Given the description of an element on the screen output the (x, y) to click on. 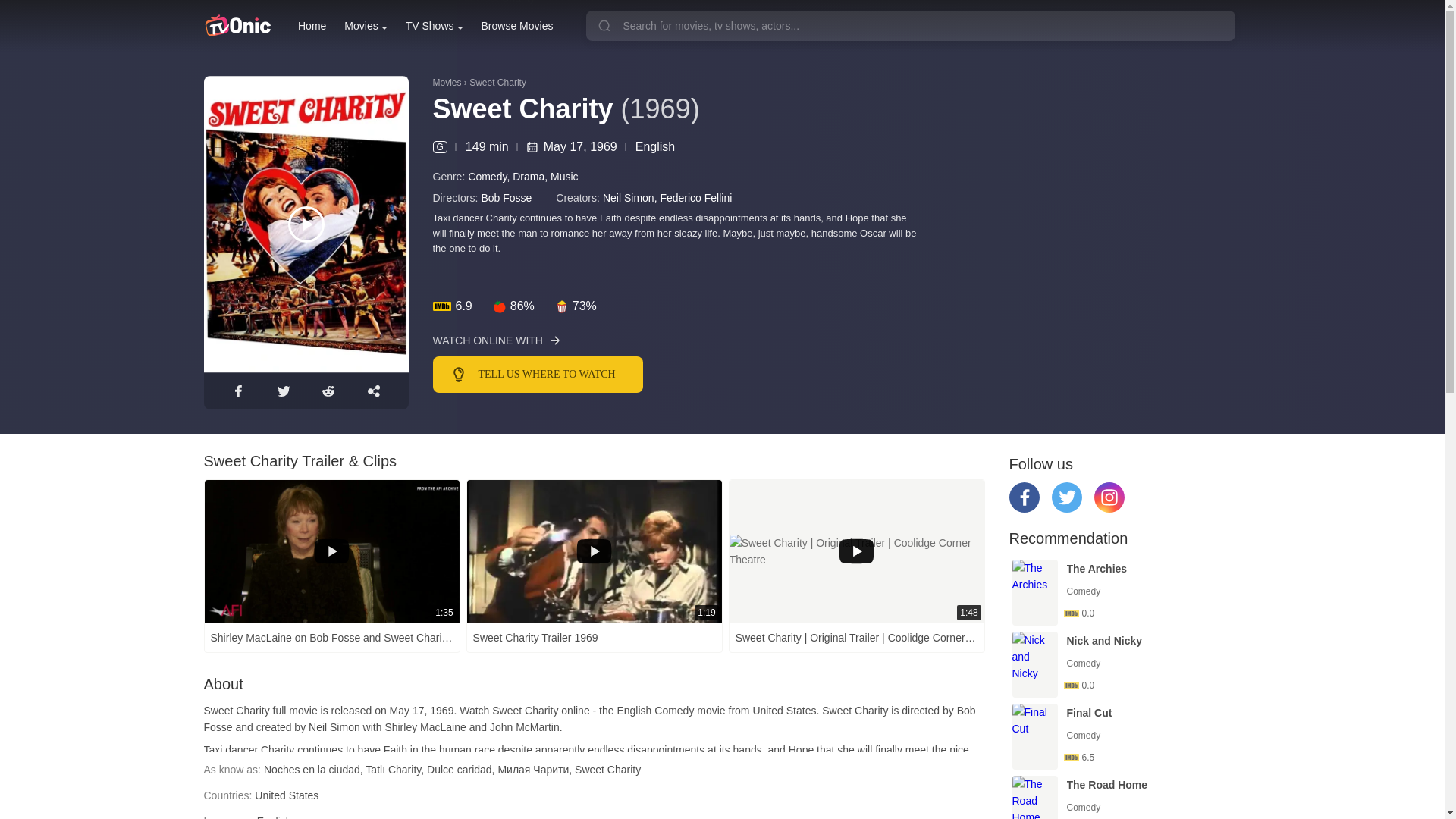
TV Shows (434, 25)
TVOnic (236, 25)
TELL US WHERE TO WATCH (647, 374)
Movies (365, 25)
Movies (365, 25)
Home (312, 25)
